Given the description of an element on the screen output the (x, y) to click on. 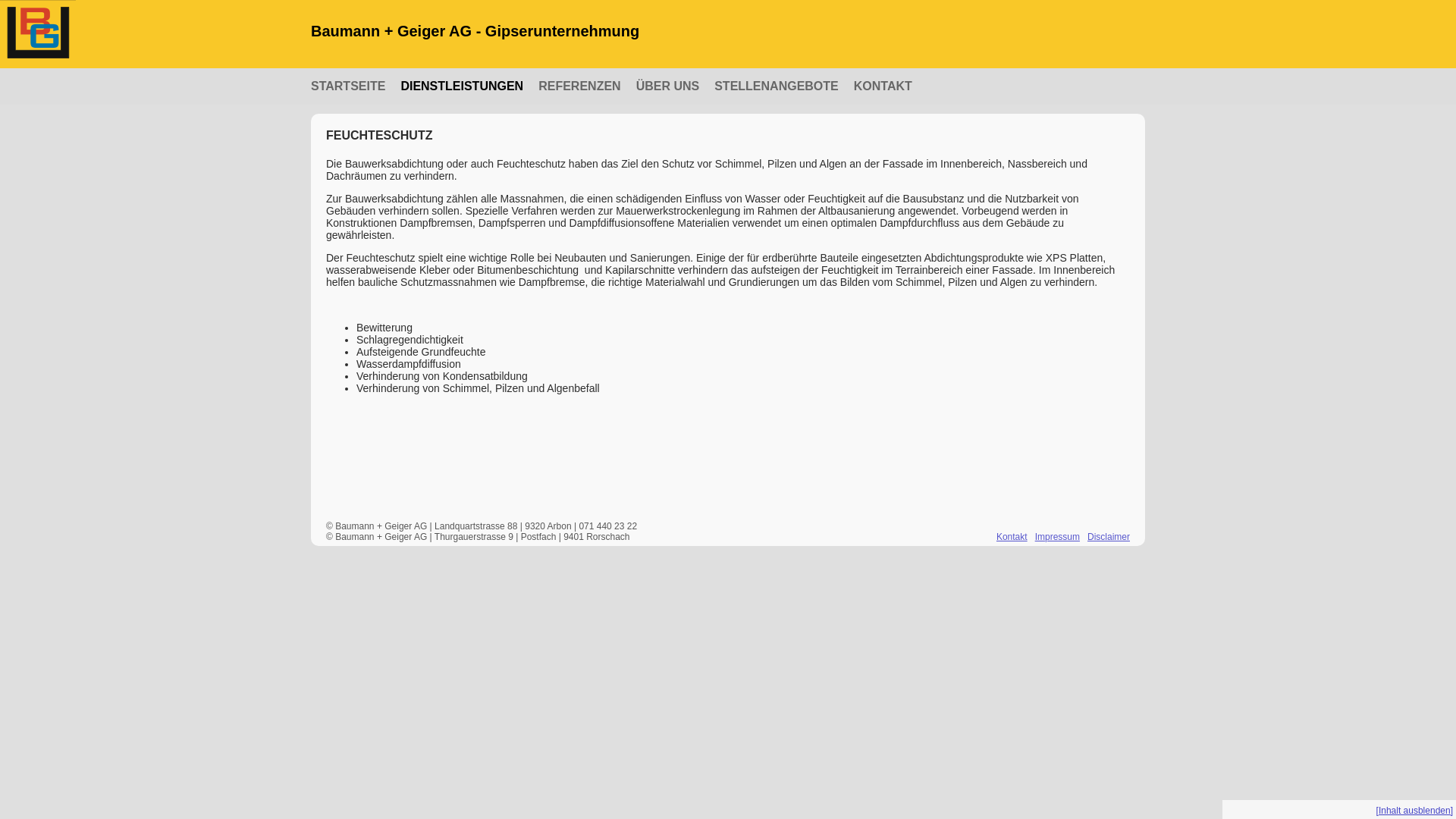
STELLENANGEBOTE Element type: text (776, 85)
Kontakt Element type: text (1011, 536)
KONTAKT Element type: text (882, 85)
Impressum Element type: text (1057, 536)
Disclaimer Element type: text (1108, 536)
[Inhalt ausblenden] Element type: text (1414, 810)
STARTSEITE Element type: text (347, 85)
REFERENZEN Element type: text (579, 85)
DIENSTLEISTUNGEN Element type: text (461, 85)
